Given the description of an element on the screen output the (x, y) to click on. 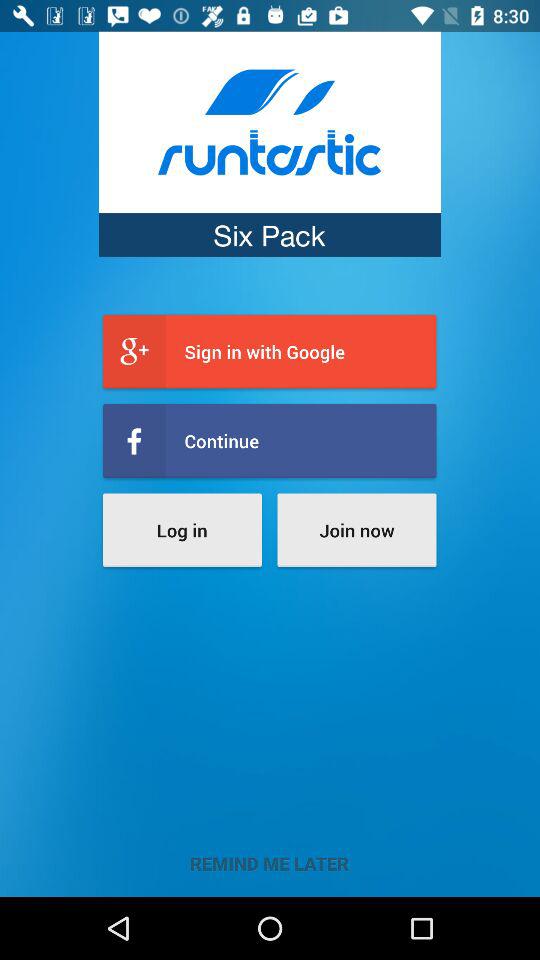
launch the sign in with item (269, 351)
